Given the description of an element on the screen output the (x, y) to click on. 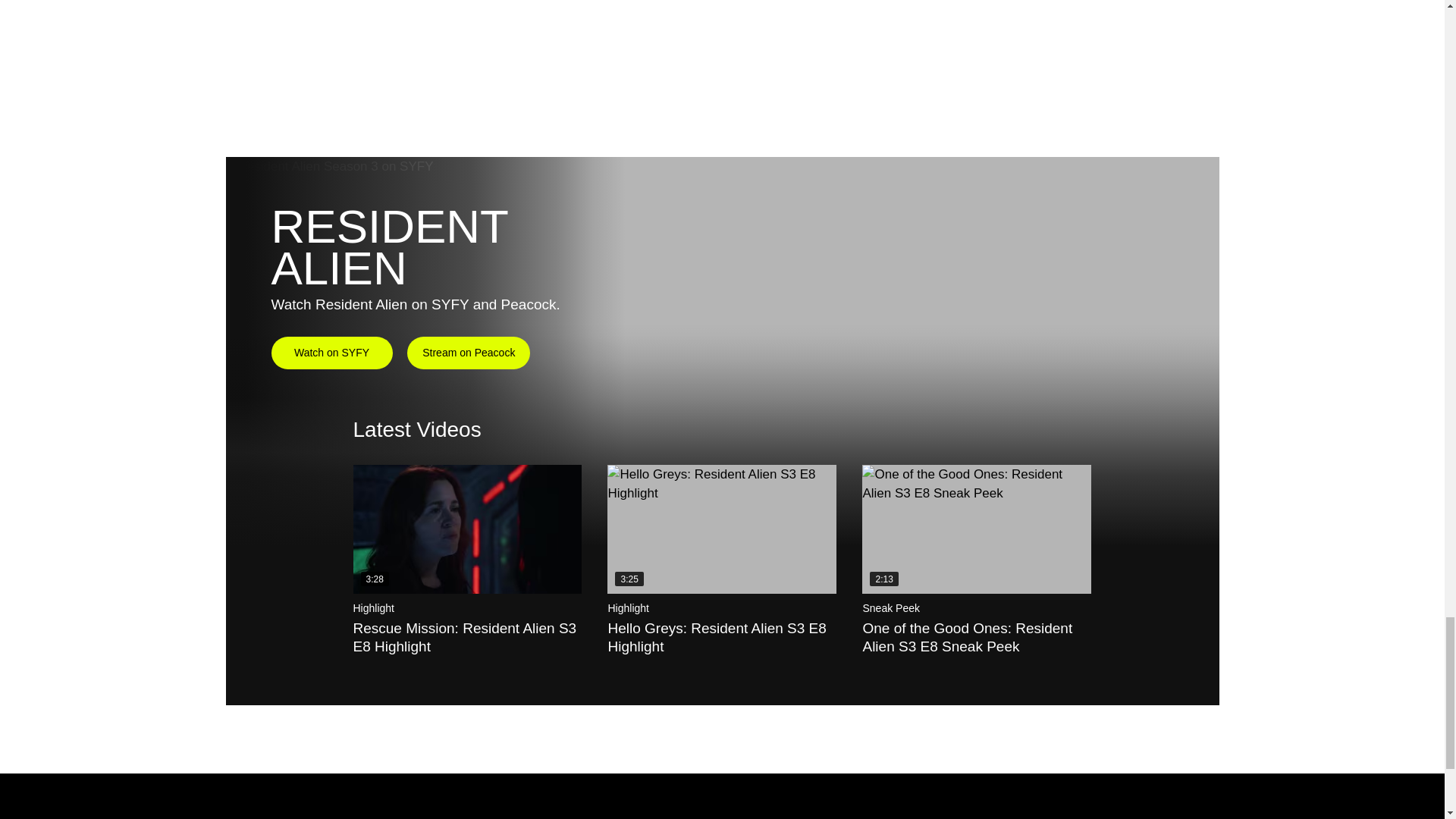
Rescue Mission: Resident Alien S3 E8 Highlight (467, 529)
One of the Good Ones: Resident Alien S3 E8 Sneak Peek (975, 529)
Hello Greys: Resident Alien S3 E8 Highlight (721, 529)
